Given the description of an element on the screen output the (x, y) to click on. 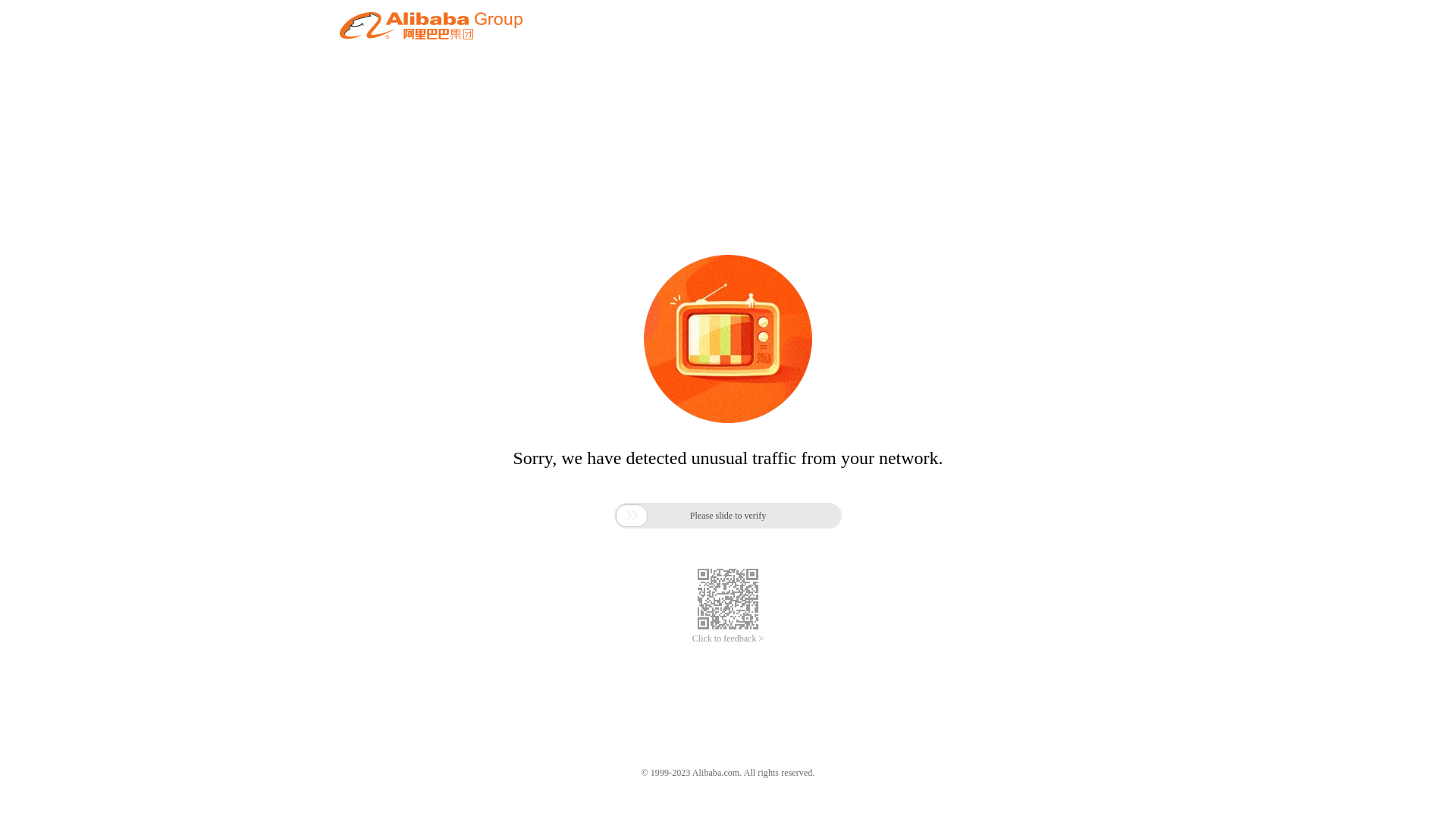
Click to feedback > Element type: text (727, 638)
